Given the description of an element on the screen output the (x, y) to click on. 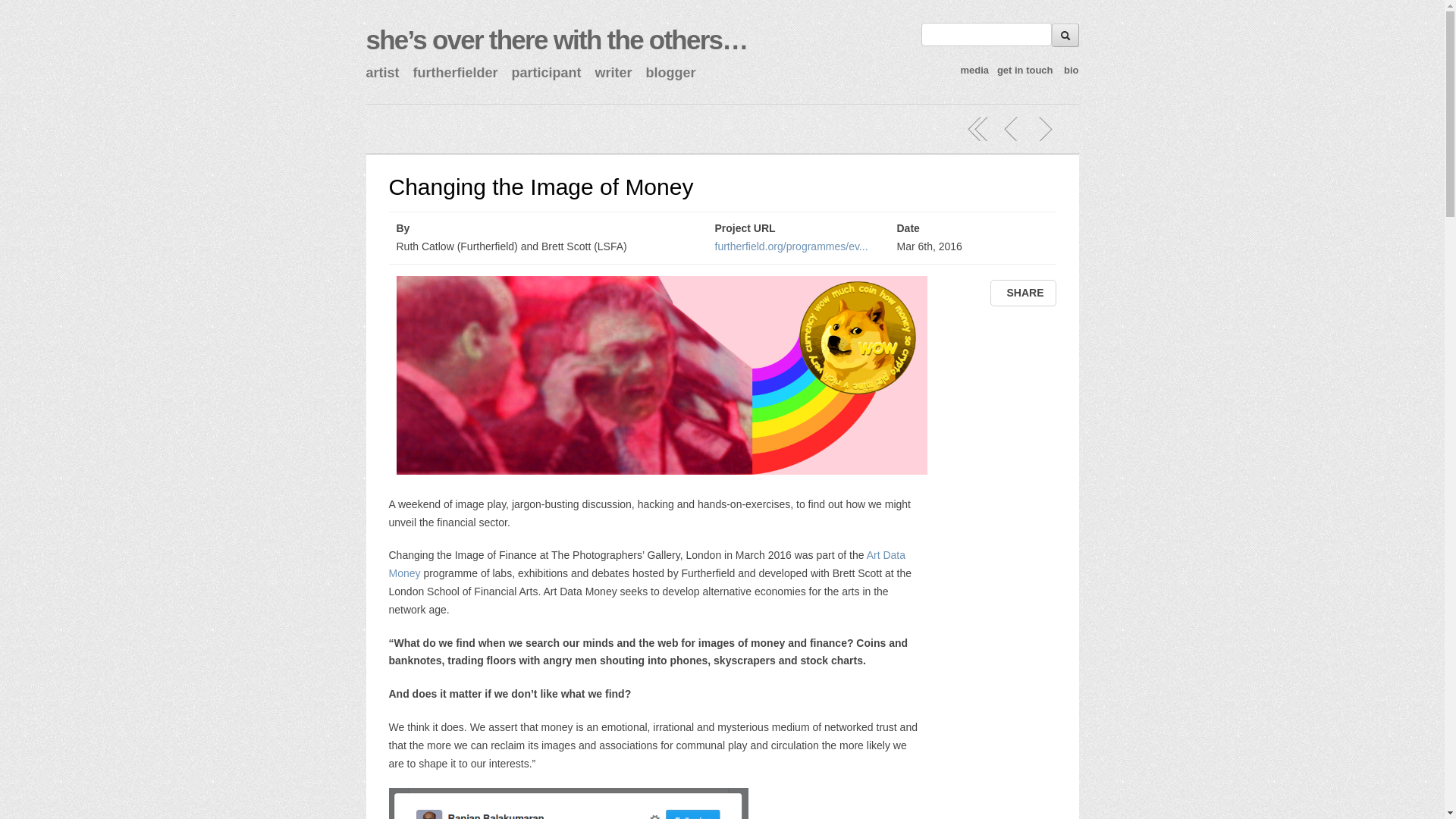
bio (1071, 70)
participant (546, 72)
writer (613, 72)
All Projects (978, 128)
blogger (670, 72)
get in touch (1024, 70)
Sociality-machine (1011, 128)
drone (555, 39)
